Given the description of an element on the screen output the (x, y) to click on. 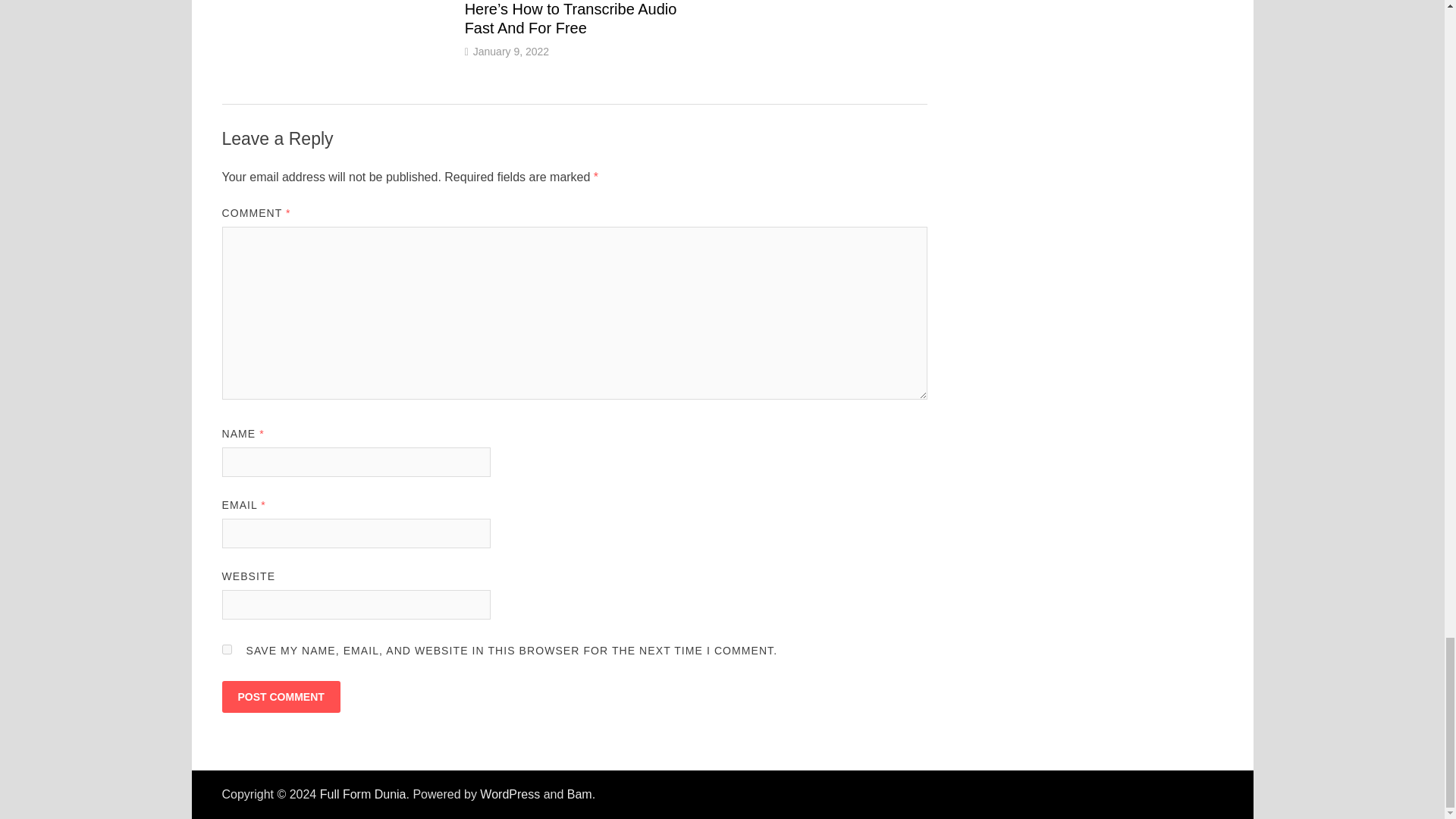
yes (226, 649)
Full Form Dunia (363, 793)
Post Comment (280, 696)
